Given the description of an element on the screen output the (x, y) to click on. 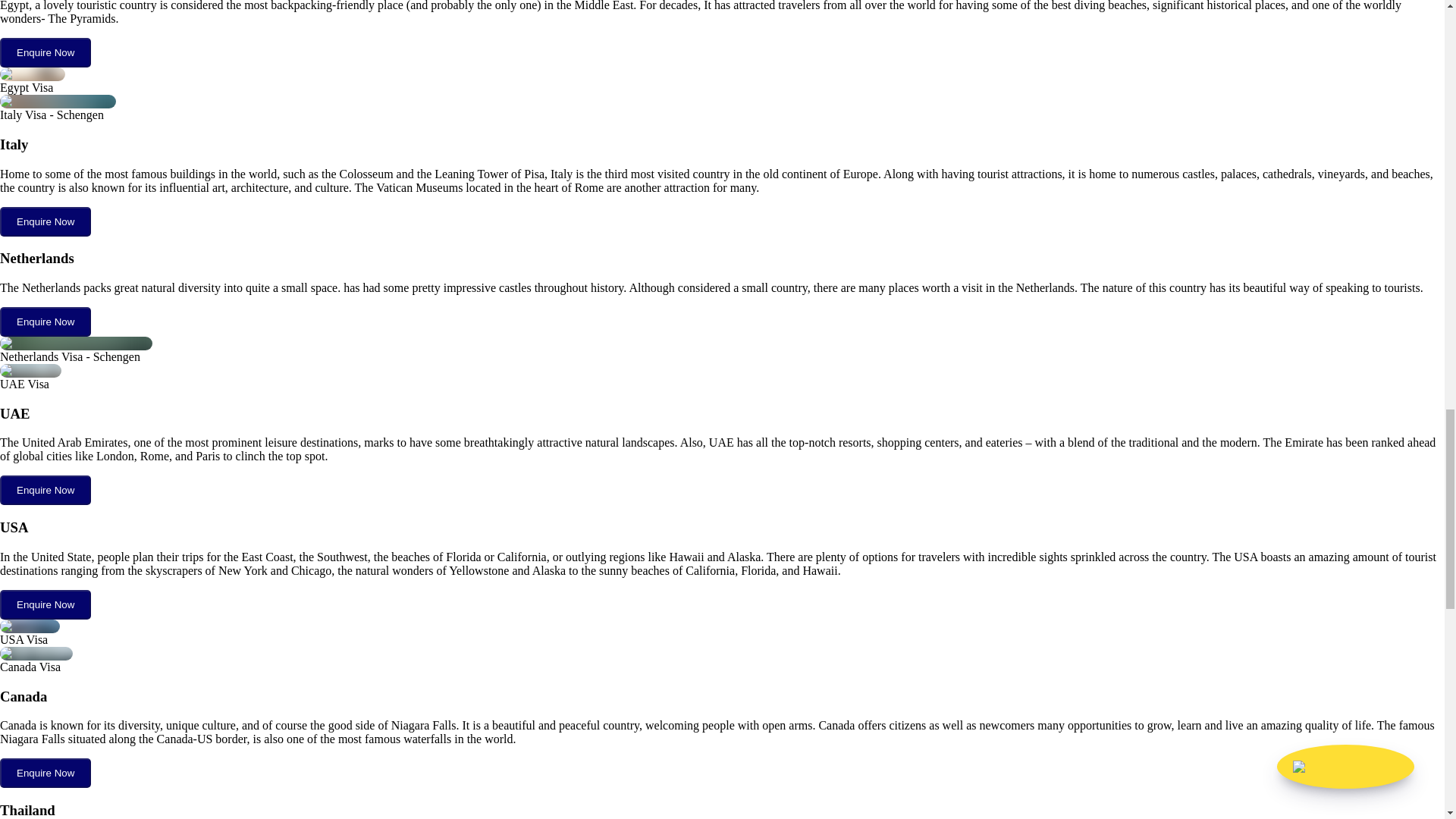
Enquire Now (45, 320)
Enquire Now (45, 490)
Enquire Now (45, 321)
Enquire Now (45, 603)
Enquire Now (45, 52)
Enquire Now (45, 771)
Enquire Now (45, 604)
Enquire Now (45, 489)
Enquire Now (45, 51)
Enquire Now (45, 772)
Enquire Now (45, 220)
Enquire Now (45, 221)
